Given the description of an element on the screen output the (x, y) to click on. 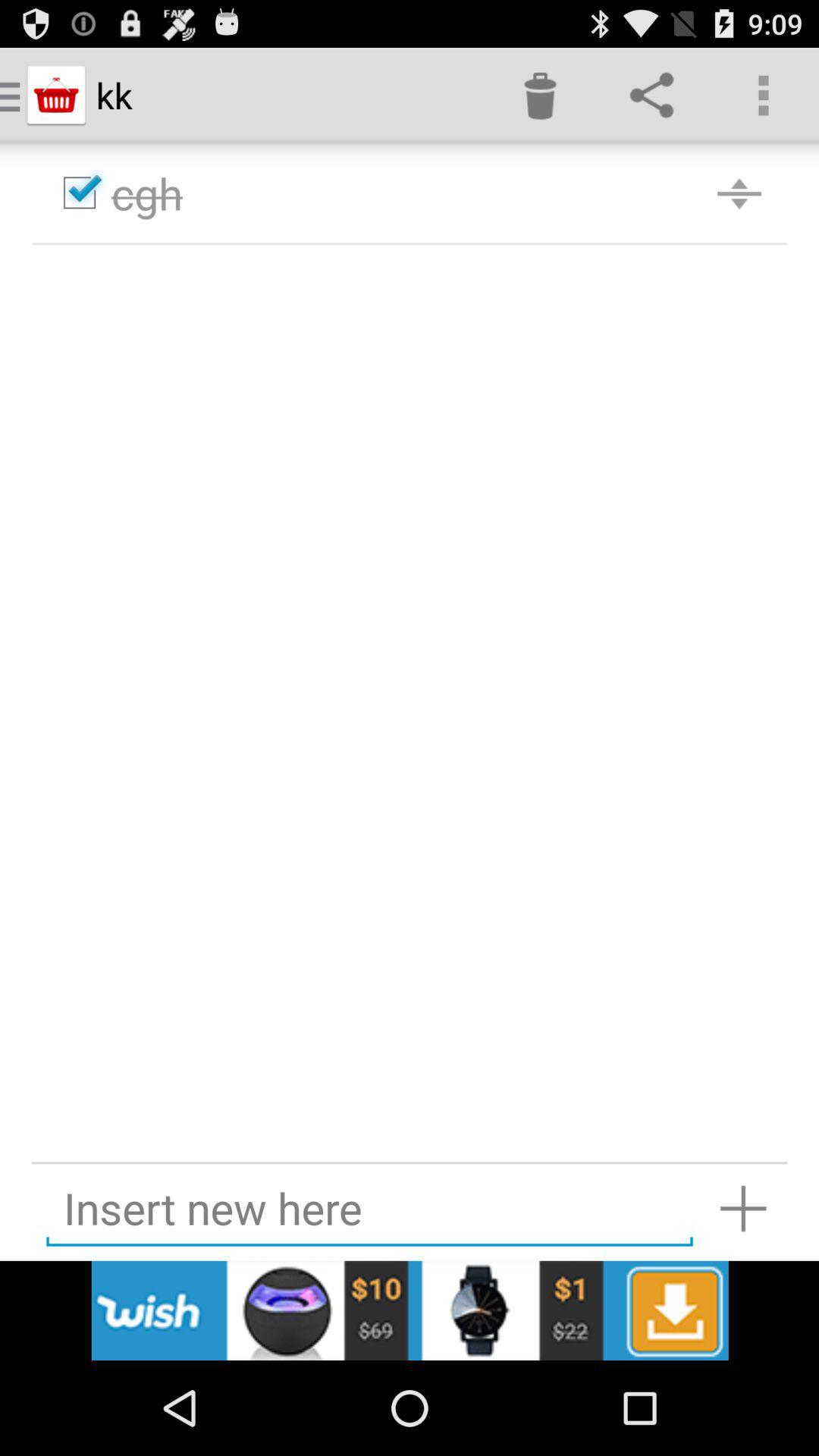
insert new item (743, 1208)
